Given the description of an element on the screen output the (x, y) to click on. 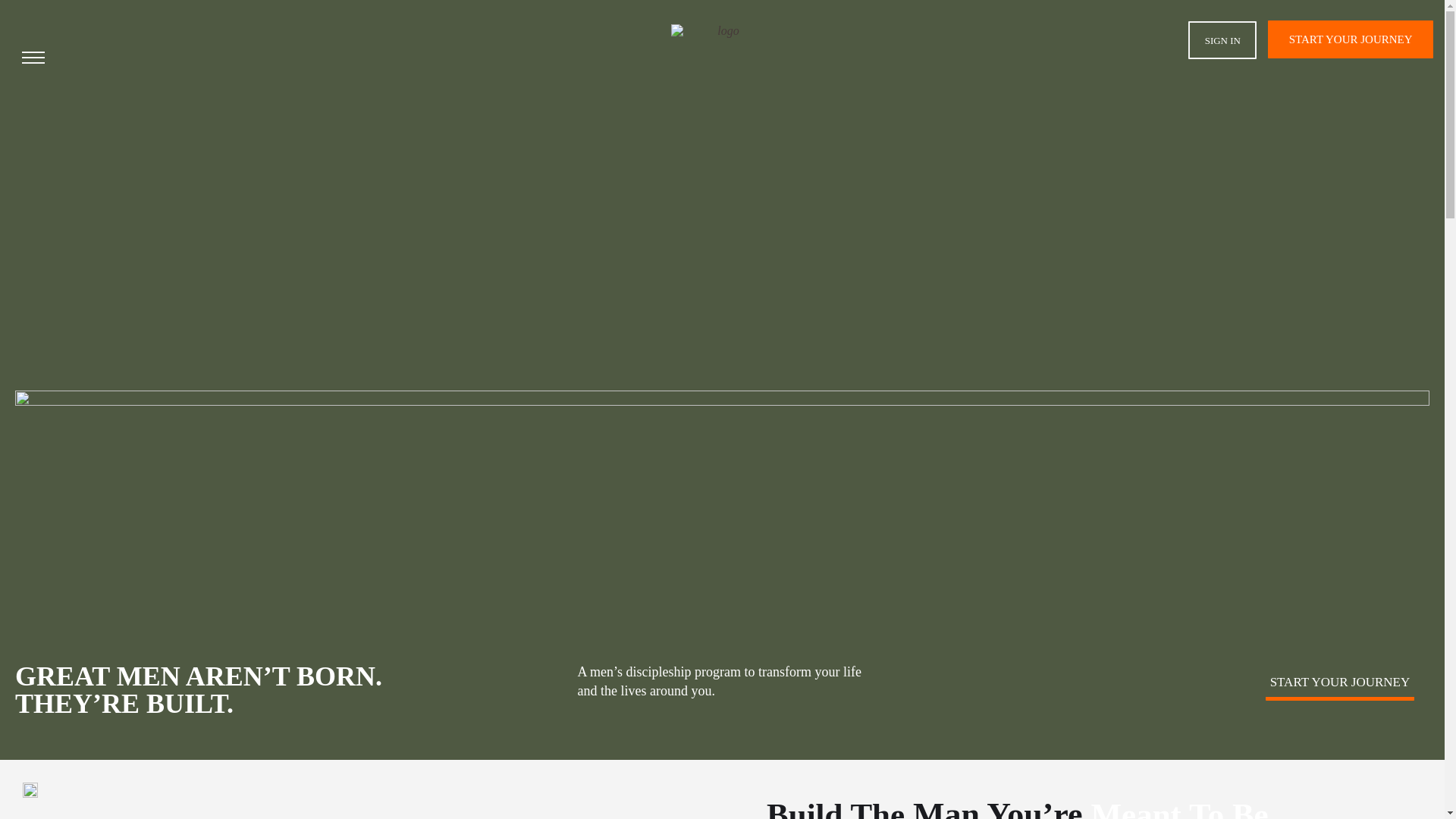
START YOUR JOURNEY (1350, 39)
SIGN IN (1222, 39)
START YOUR JOURNEY (1339, 681)
